Given the description of an element on the screen output the (x, y) to click on. 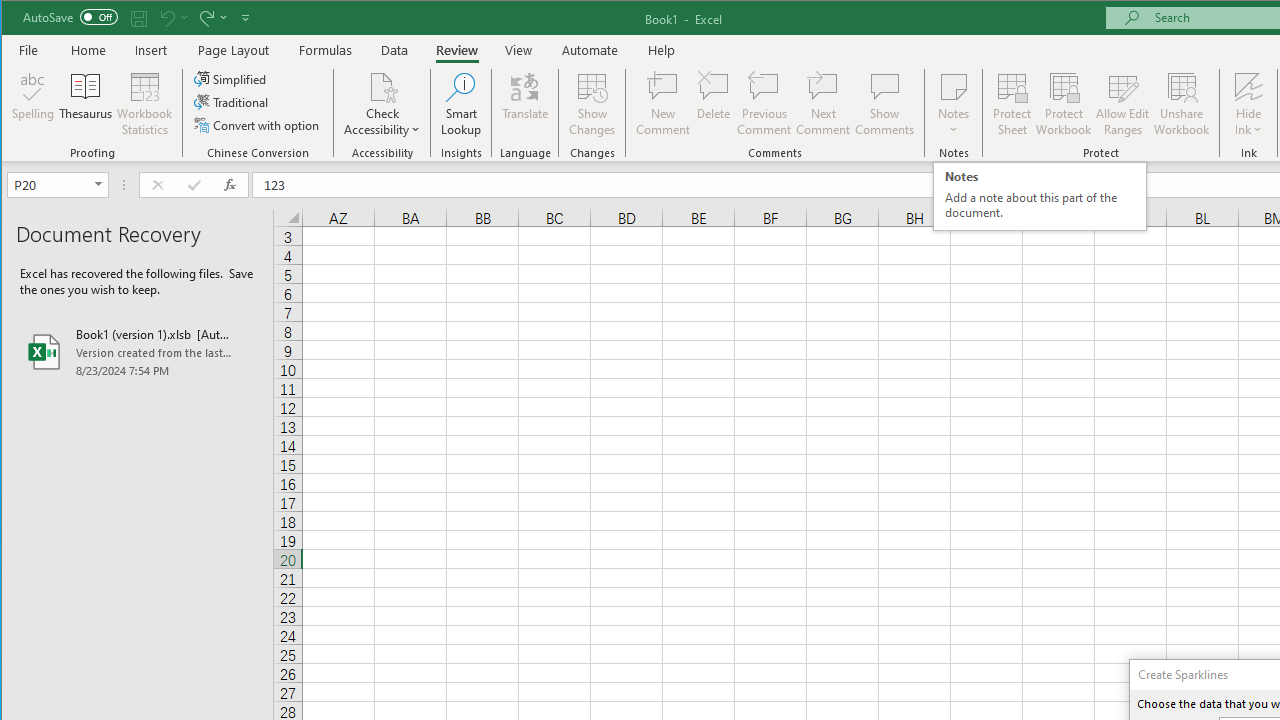
Traditional (232, 101)
Previous Comment (763, 104)
Protect Workbook... (1064, 104)
AutoSave (70, 16)
Translate (525, 104)
